Given the description of an element on the screen output the (x, y) to click on. 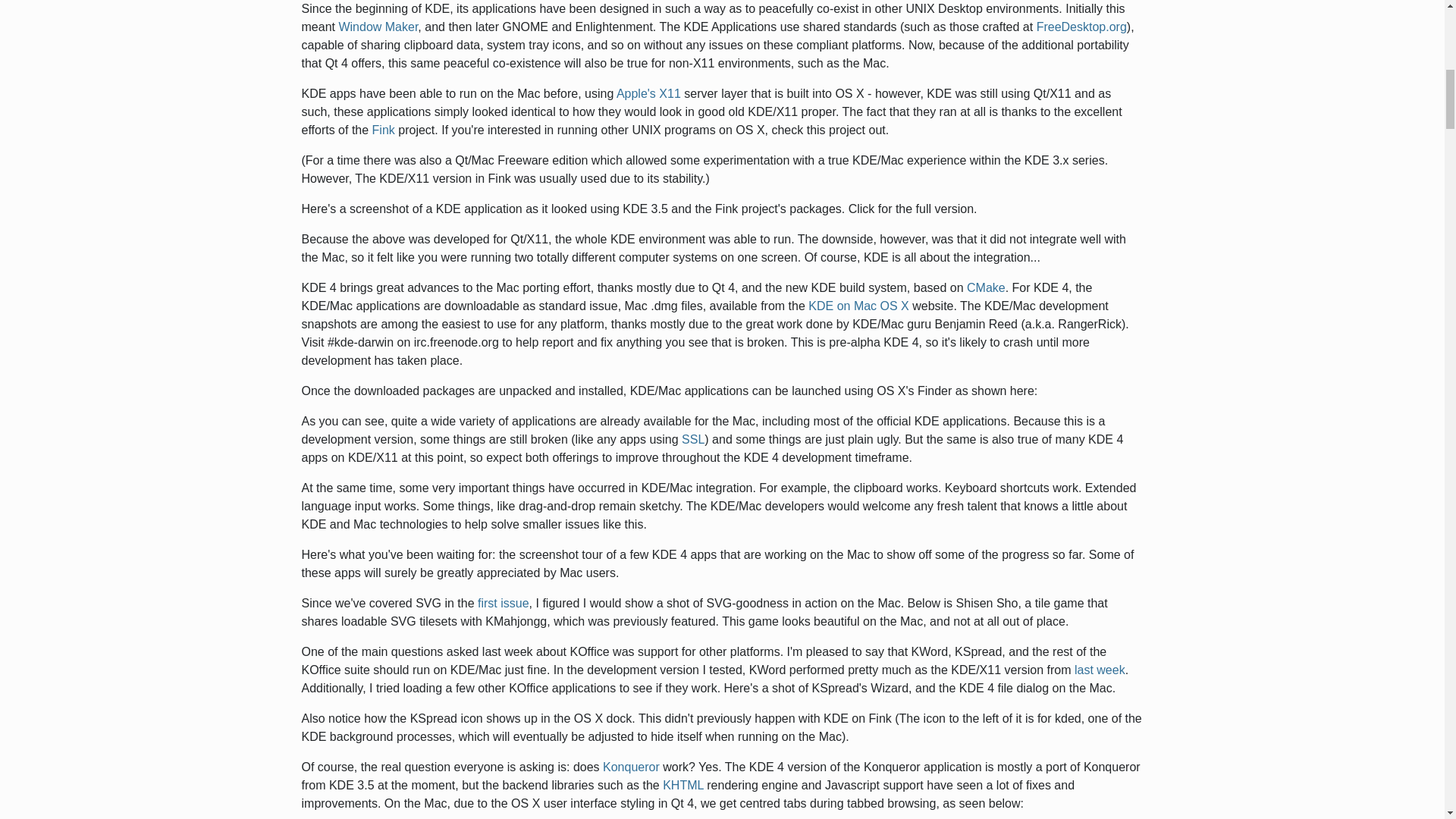
Apple's X11 (648, 92)
last week (1099, 669)
FreeDesktop.org (1081, 26)
first issue (503, 603)
Window Maker (377, 26)
Fink (383, 129)
Konqueror (630, 766)
SSL (692, 439)
KHTML (682, 784)
KDE on Mac OS X (858, 305)
CMake (986, 287)
